Given the description of an element on the screen output the (x, y) to click on. 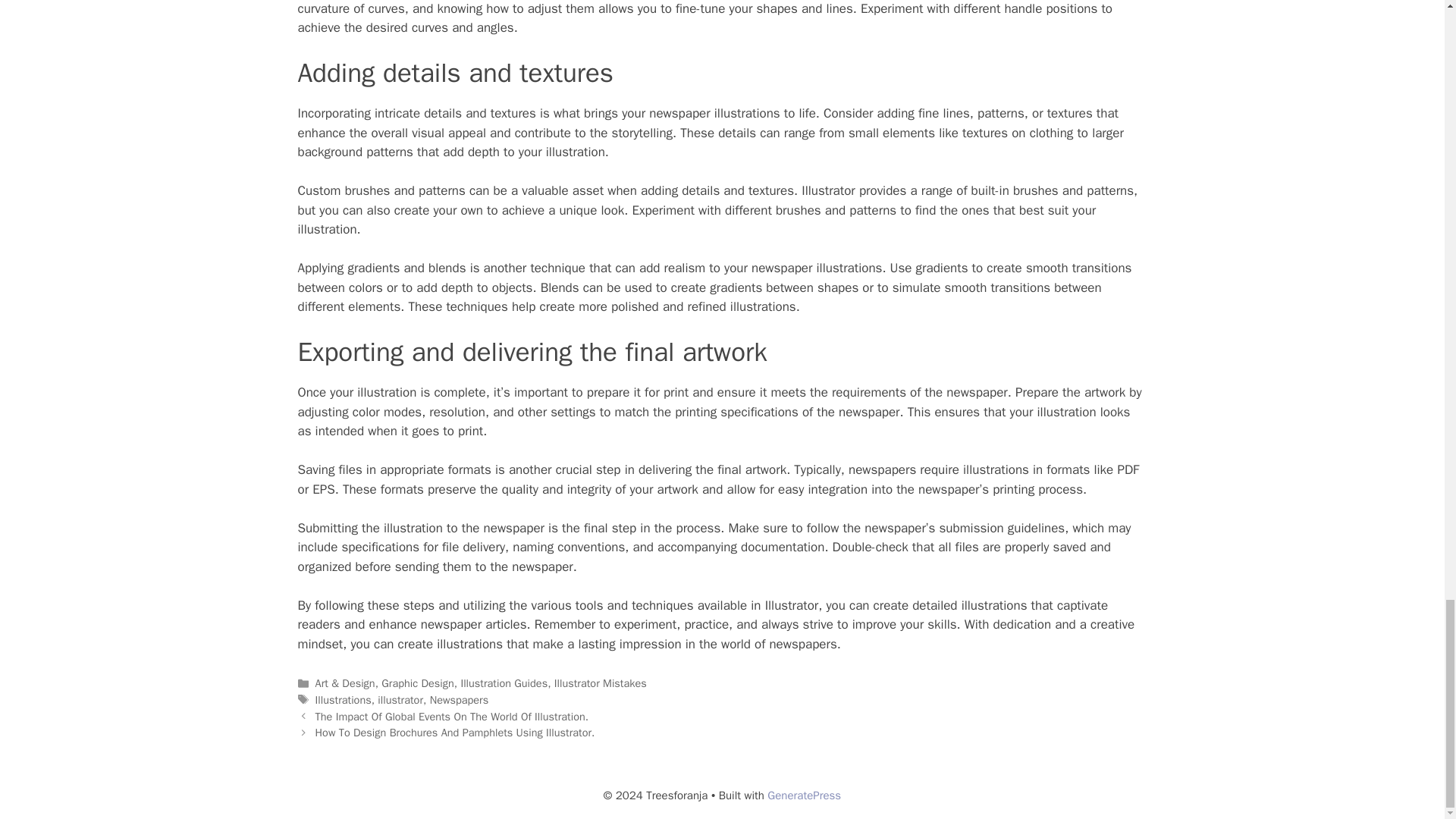
Illustrations (343, 699)
illustrator (400, 699)
Illustrator Mistakes (600, 683)
Graphic Design (416, 683)
The Impact Of Global Events On The World Of Illustration. (451, 716)
GeneratePress (804, 795)
Illustration Guides (503, 683)
Newspapers (459, 699)
How To Design Brochures And Pamphlets Using Illustrator. (455, 732)
